Given the description of an element on the screen output the (x, y) to click on. 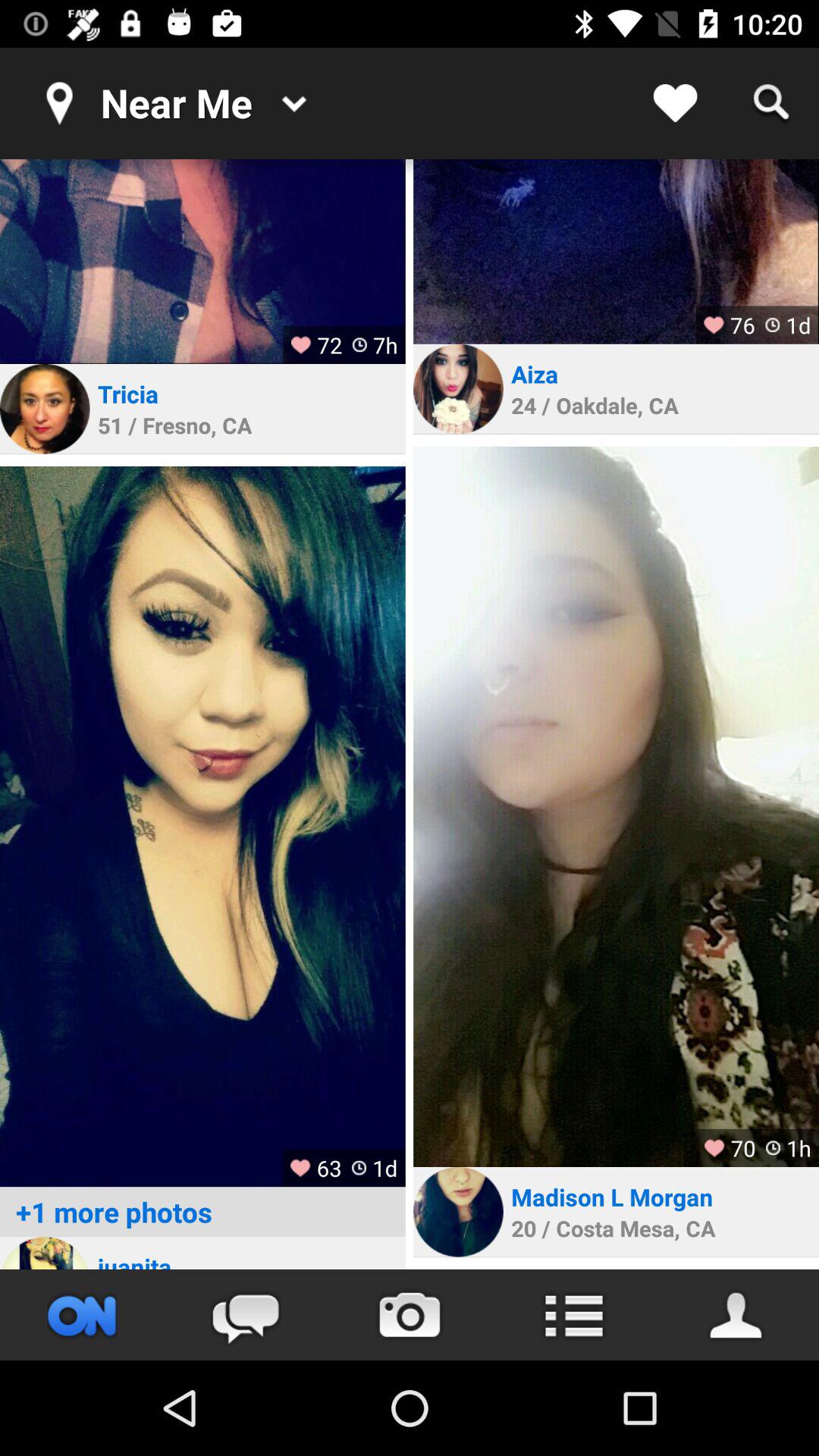
logon (44, 1253)
